Given the description of an element on the screen output the (x, y) to click on. 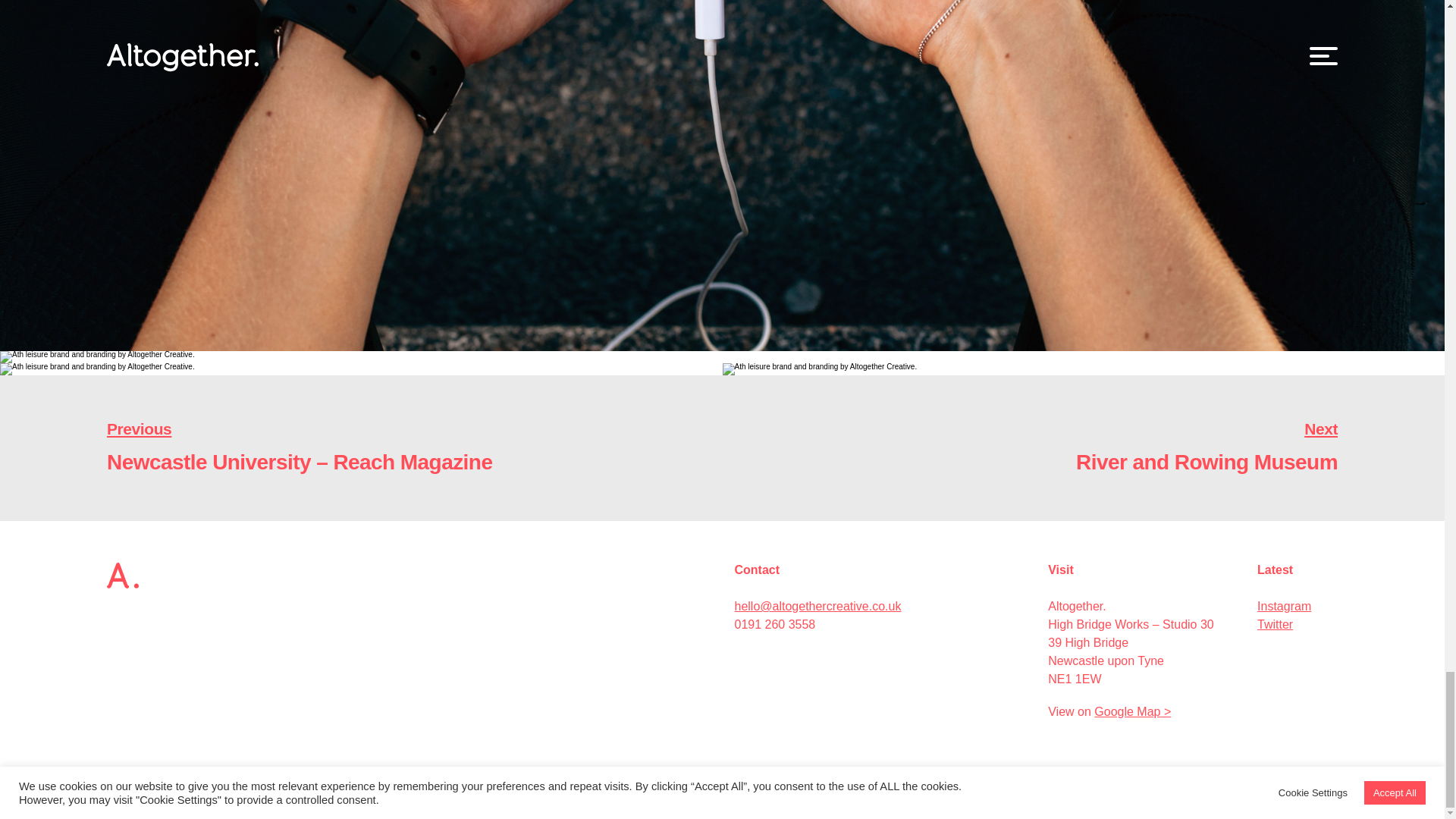
Instagram (1284, 605)
Twitter (1274, 624)
Privacy Policy (1057, 447)
Cookie Policy (258, 778)
Cookie preferences (328, 778)
